Given the description of an element on the screen output the (x, y) to click on. 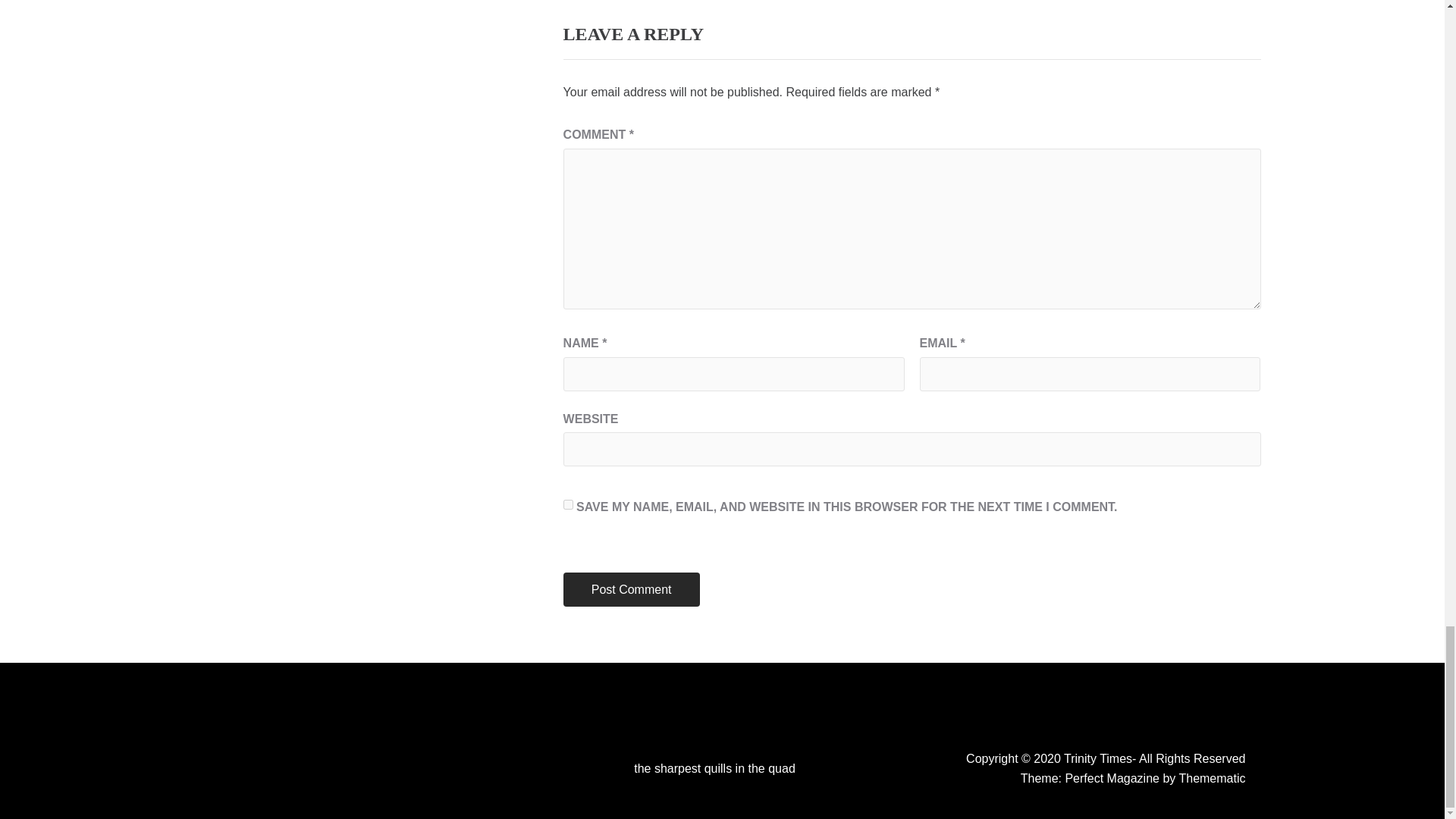
Post Comment (631, 589)
Post Comment (631, 589)
Themematic (1210, 778)
